Given the description of an element on the screen output the (x, y) to click on. 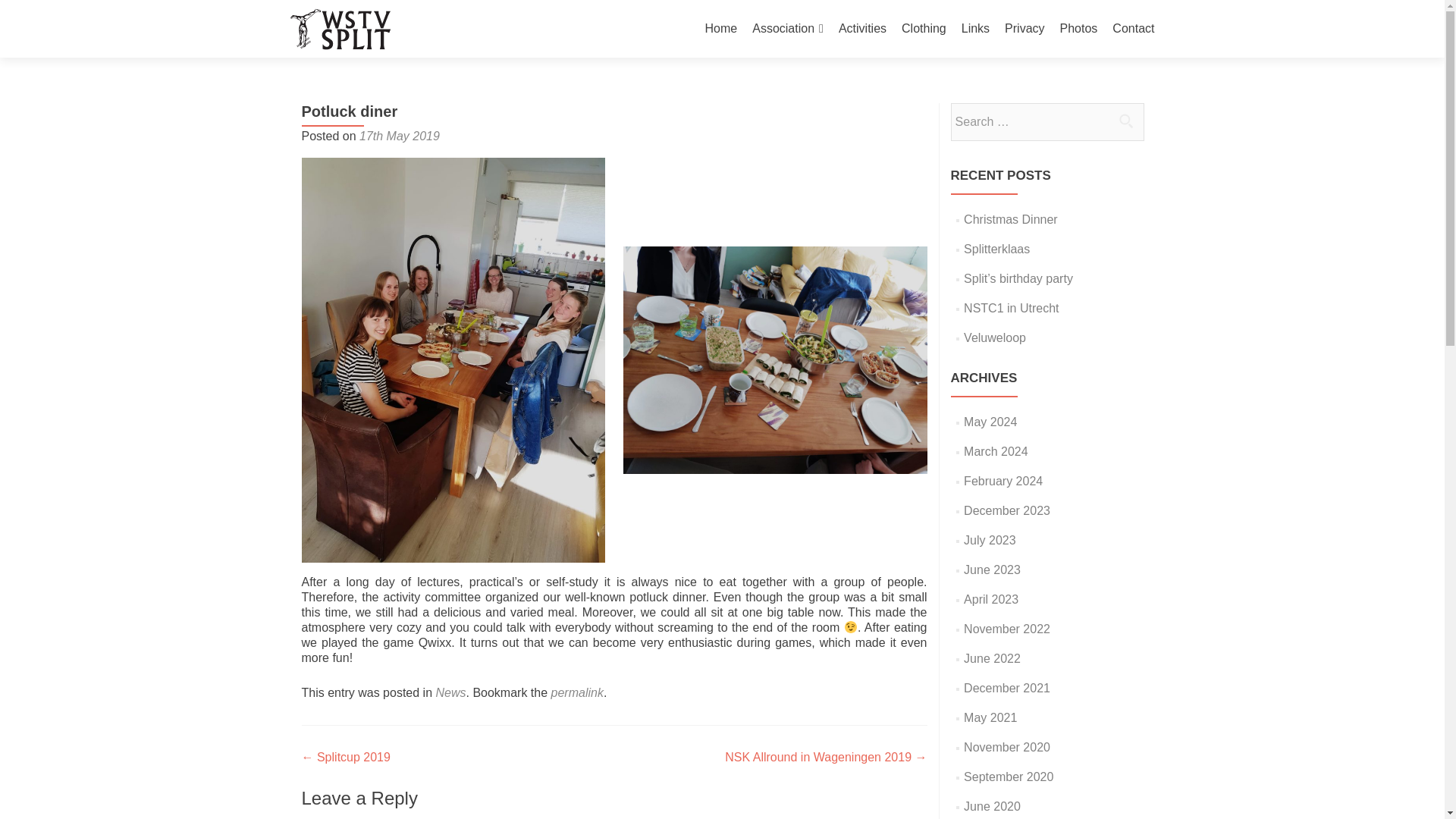
July 2023 (989, 540)
Clothing (923, 28)
17th May 2019 (399, 135)
Splitterklaas (996, 248)
Christmas Dinner (1010, 219)
February 2024 (1002, 481)
June 2023 (991, 569)
December 2023 (1006, 510)
Association (788, 28)
Search (1125, 120)
